Given the description of an element on the screen output the (x, y) to click on. 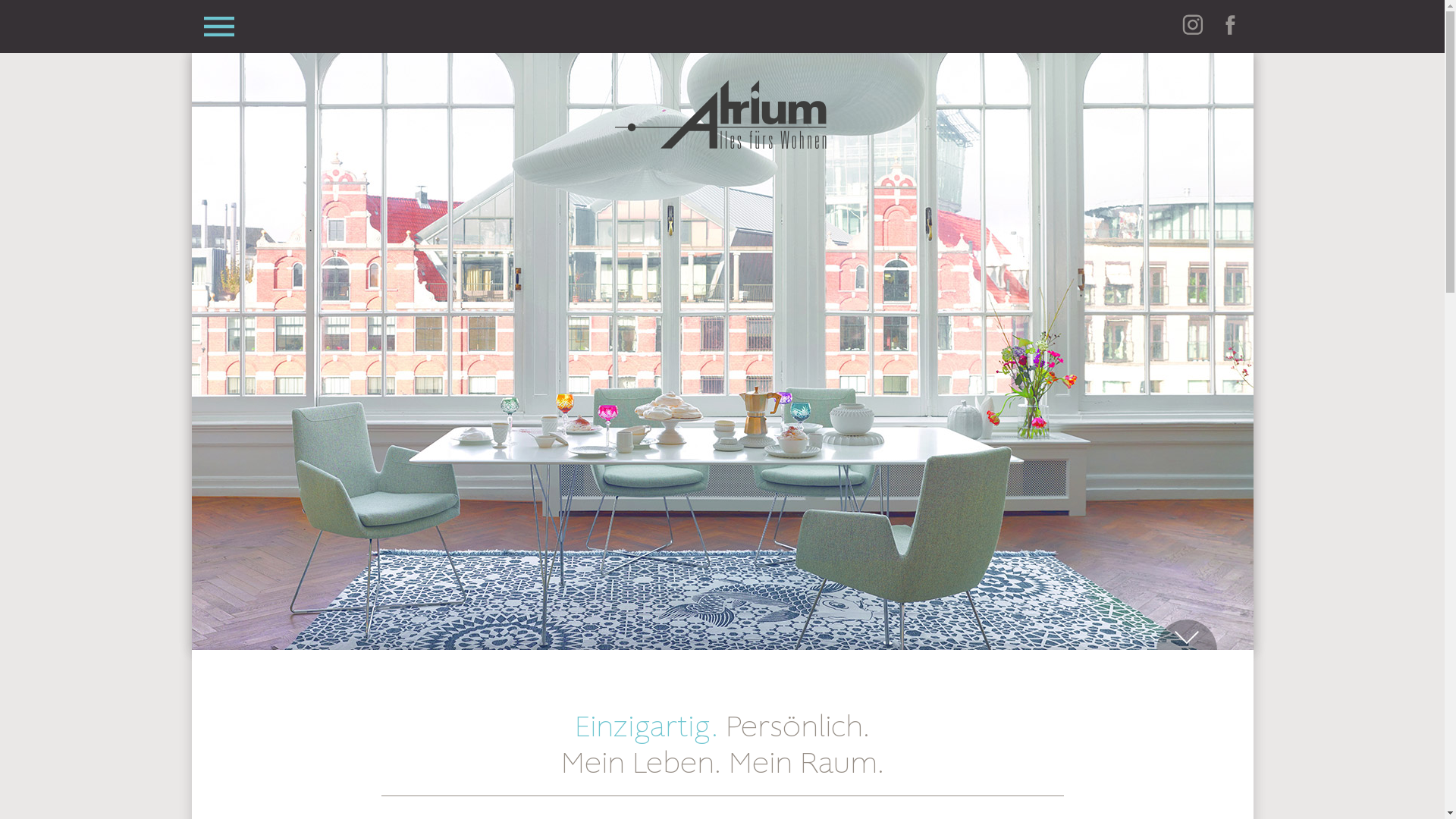
1 Element type: text (581, 664)
4 Element type: text (722, 664)
2 Element type: text (628, 664)
3 Element type: text (675, 664)
5 Element type: text (769, 664)
7 Element type: text (863, 664)
6 Element type: text (816, 664)
